Given the description of an element on the screen output the (x, y) to click on. 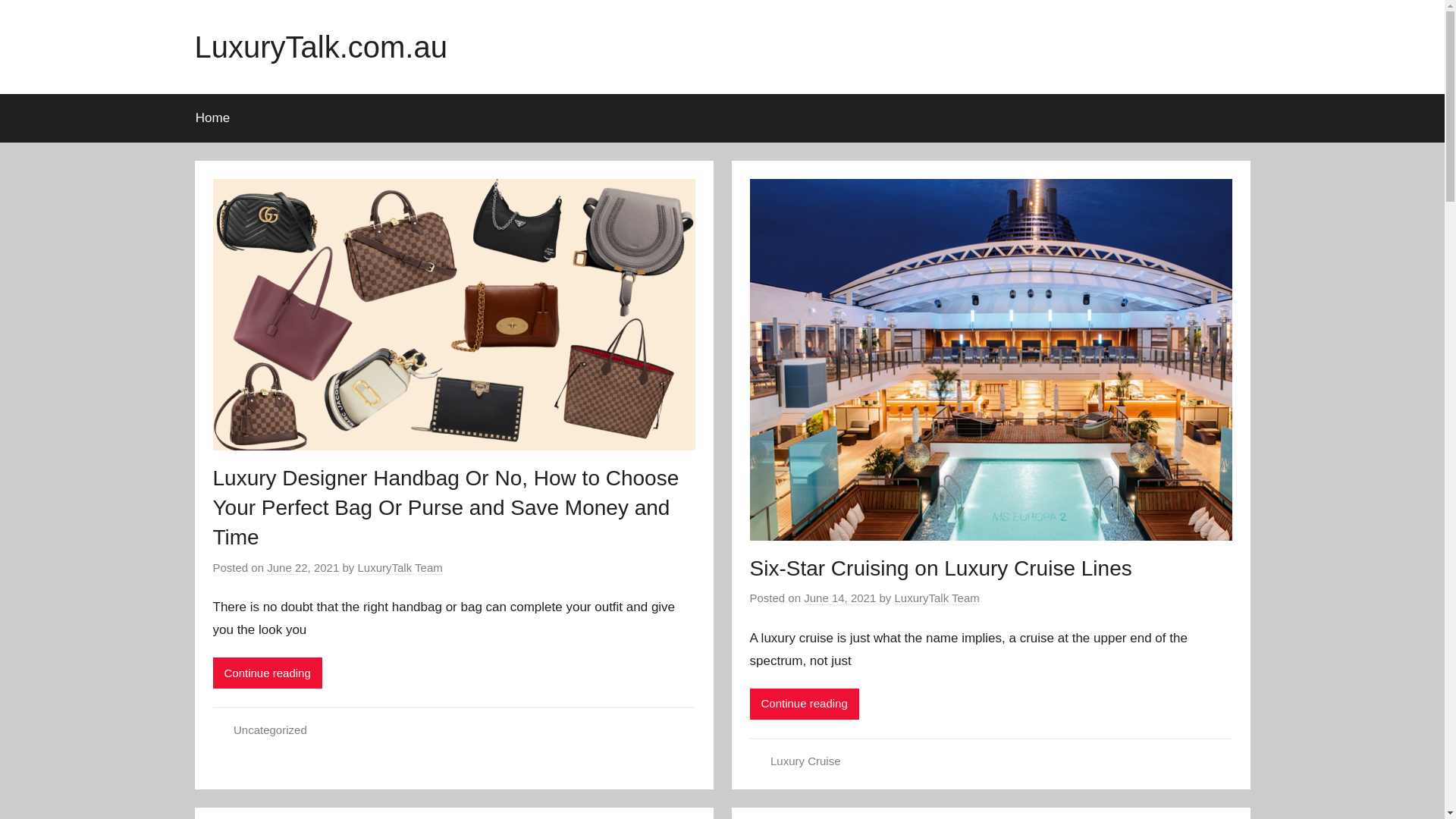
Skip to content Element type: text (0, 0)
Luxury Cruise Element type: text (805, 760)
June 14, 2021 Element type: text (839, 598)
Six-Star Cruising on Luxury Cruise Lines Element type: text (940, 568)
LuxuryTalk.com.au Element type: text (320, 46)
Home Element type: text (211, 118)
Uncategorized Element type: text (270, 729)
June 22, 2021 Element type: text (302, 567)
LuxuryTalk Team Element type: text (399, 567)
LuxuryTalk Team Element type: text (936, 598)
Continue reading Element type: text (803, 703)
Continue reading Element type: text (266, 672)
